Given the description of an element on the screen output the (x, y) to click on. 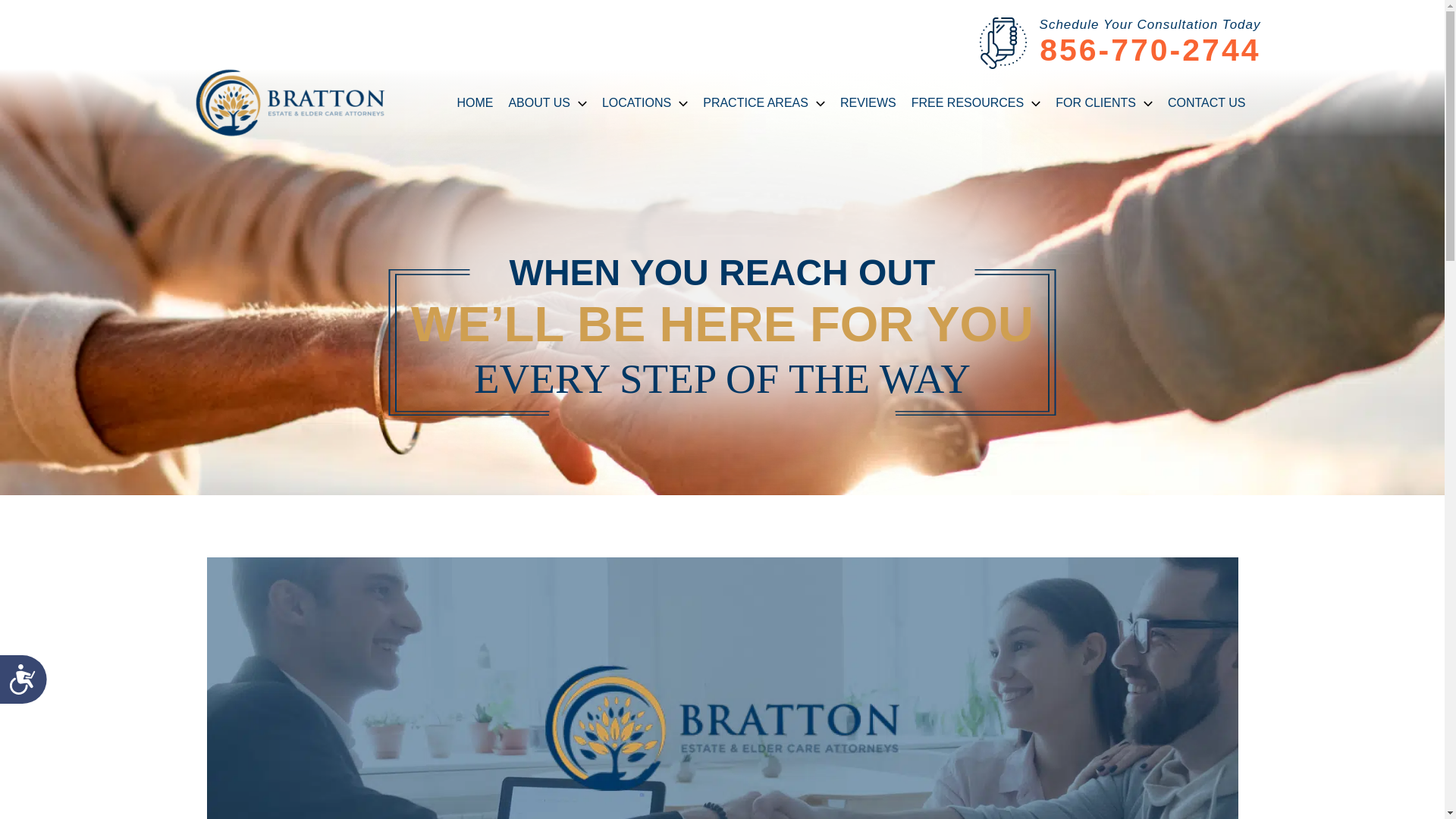
Accessibility (29, 685)
856-770-2744 (1149, 50)
HOME (474, 102)
LOCATIONS (644, 102)
PRACTICE AREAS (763, 102)
ABOUT US (547, 102)
